Given the description of an element on the screen output the (x, y) to click on. 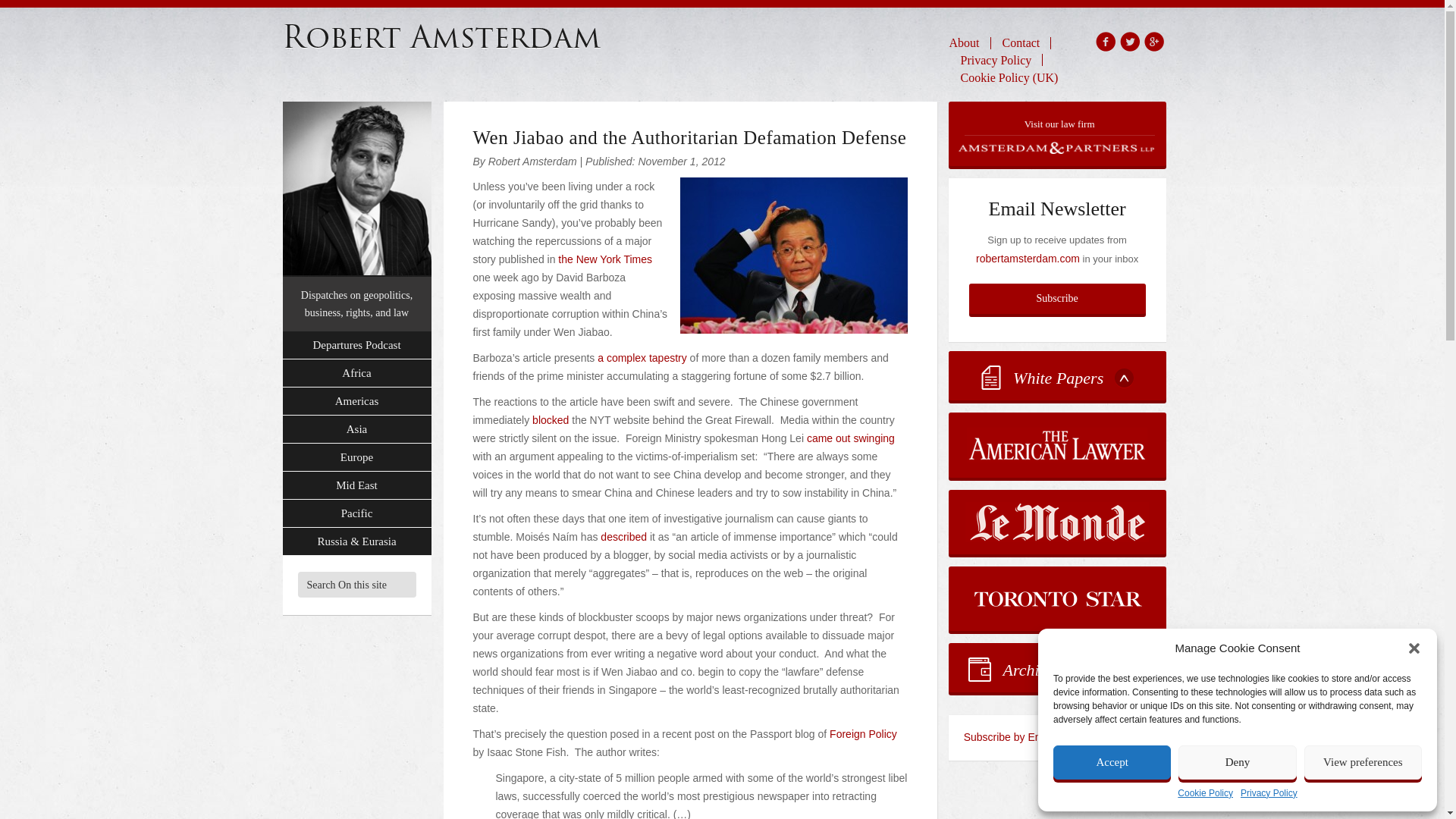
Cookie Policy (1205, 793)
View preferences (1363, 762)
Contact (1021, 42)
About (970, 42)
Asia (356, 429)
a complex tapestry (641, 357)
Foreign Policy (862, 734)
Departures Podcast (356, 345)
Wen Jiabao and the Authoritarian Defamation Defense (690, 137)
Privacy Policy (996, 59)
the New York Times (604, 259)
Subscribe to the Robert Amsterdam feed by email (1057, 737)
Africa (356, 373)
Deny (1236, 762)
Americas (356, 401)
